Given the description of an element on the screen output the (x, y) to click on. 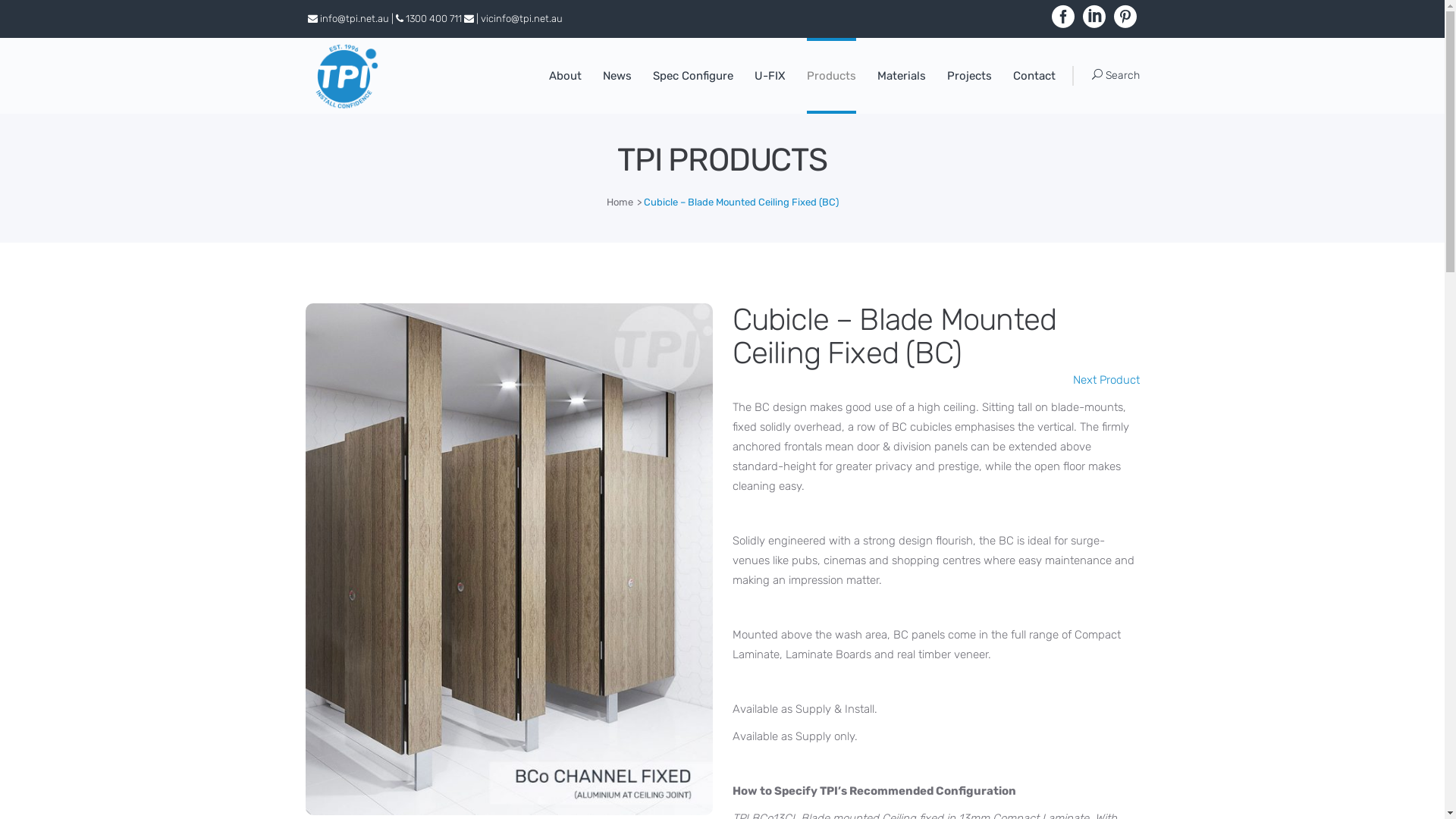
1300 400 711 Element type: text (432, 18)
U-FIX Element type: text (769, 74)
vicinfo@tpi.net.au Element type: text (521, 18)
Contact Element type: text (1034, 74)
Search Element type: text (1115, 74)
Materials Element type: text (900, 74)
Products Element type: text (831, 74)
info@tpi.net.au Element type: text (354, 18)
Projects Element type: text (968, 74)
News Element type: text (616, 74)
TPI-Blade-Mounted-Ceiling-Fixed-BCo Element type: hover (508, 559)
Next Product Element type: text (1105, 379)
About Element type: text (565, 74)
Spec Configure Element type: text (692, 74)
Home Element type: text (619, 202)
